Given the description of an element on the screen output the (x, y) to click on. 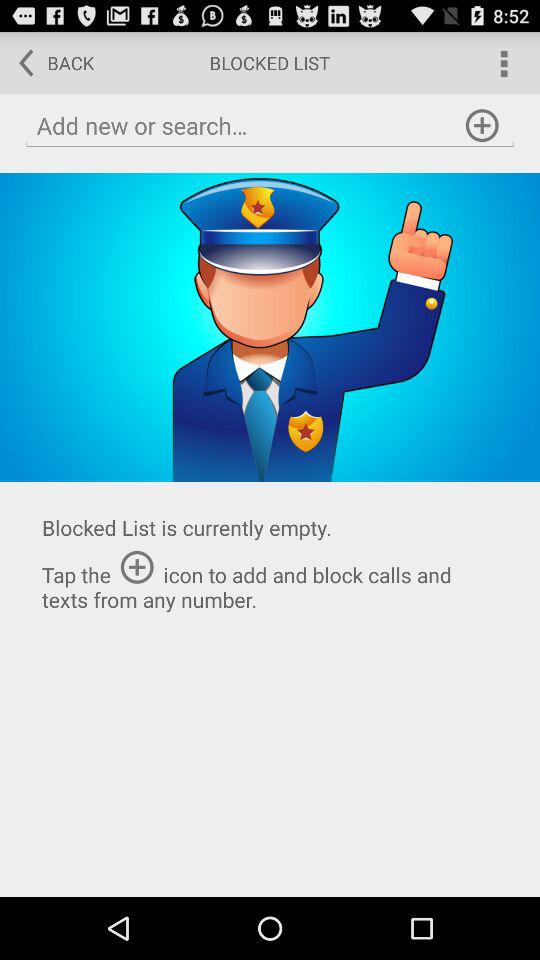
search bar (270, 125)
